Given the description of an element on the screen output the (x, y) to click on. 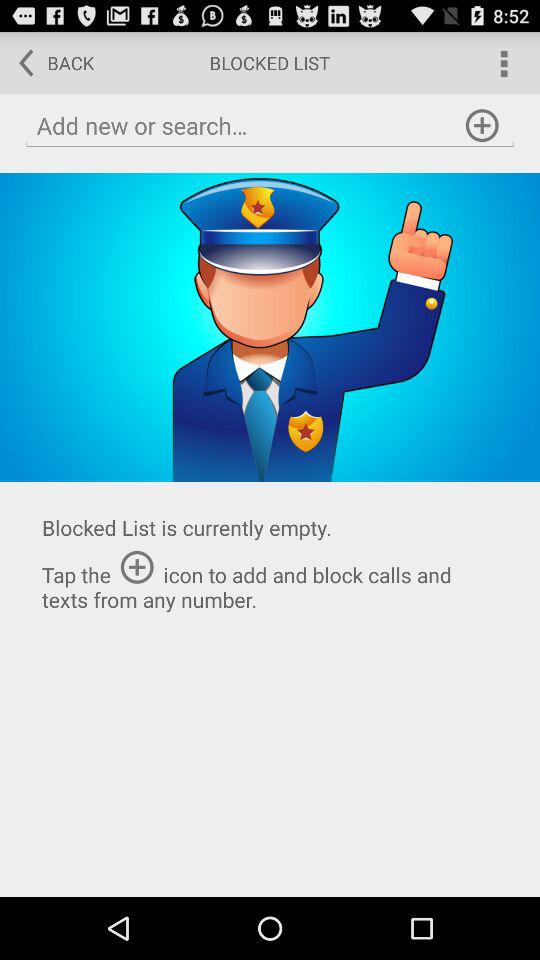
search bar (270, 125)
